Given the description of an element on the screen output the (x, y) to click on. 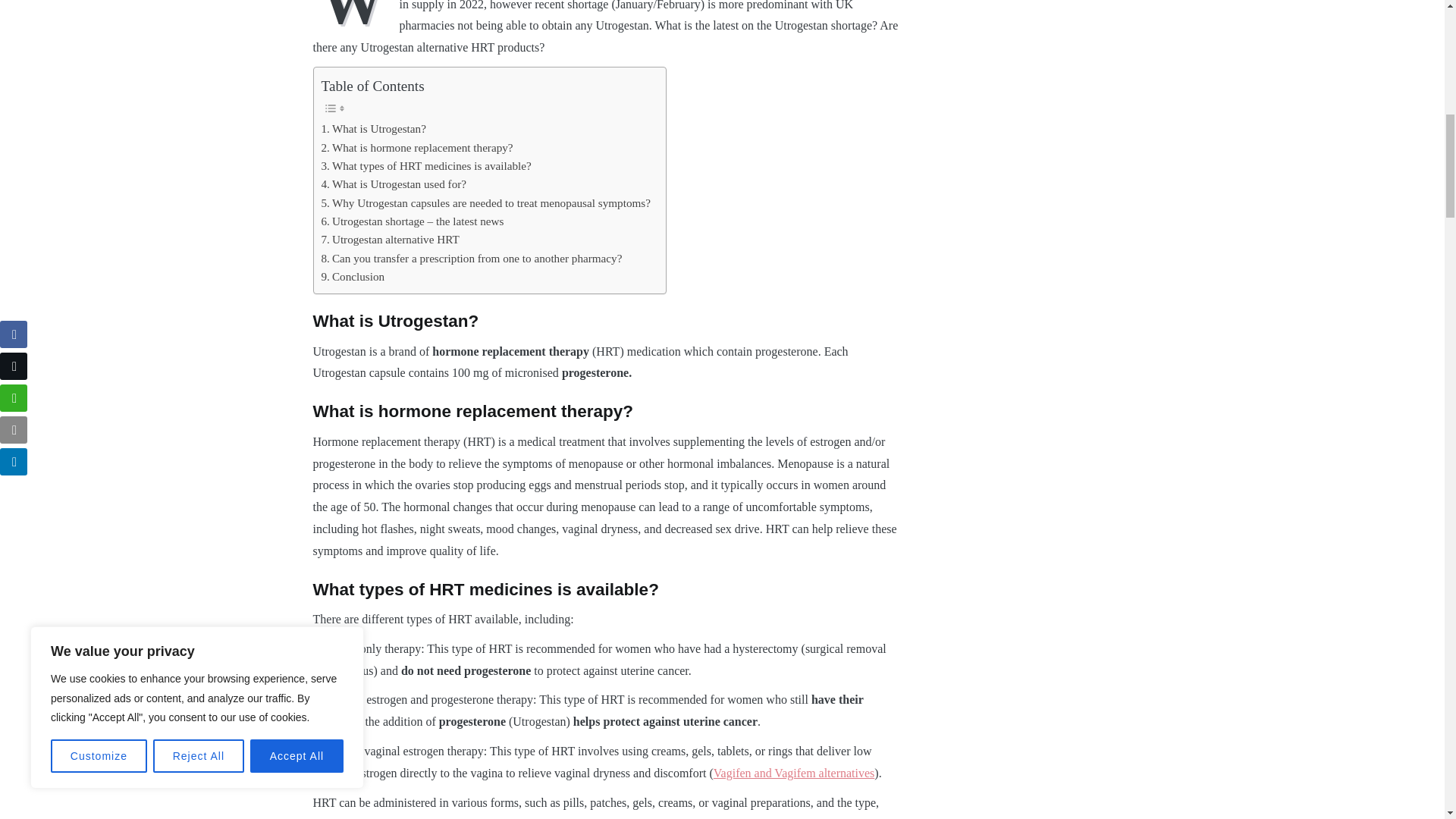
What is hormone replacement therapy? (417, 147)
What types of HRT medicines is available? (426, 166)
What is Utrogestan? (373, 128)
Conclusion (353, 276)
What is Utrogestan used for? (394, 184)
W (355, 14)
Utrogestan alternative HRT (390, 239)
